Given the description of an element on the screen output the (x, y) to click on. 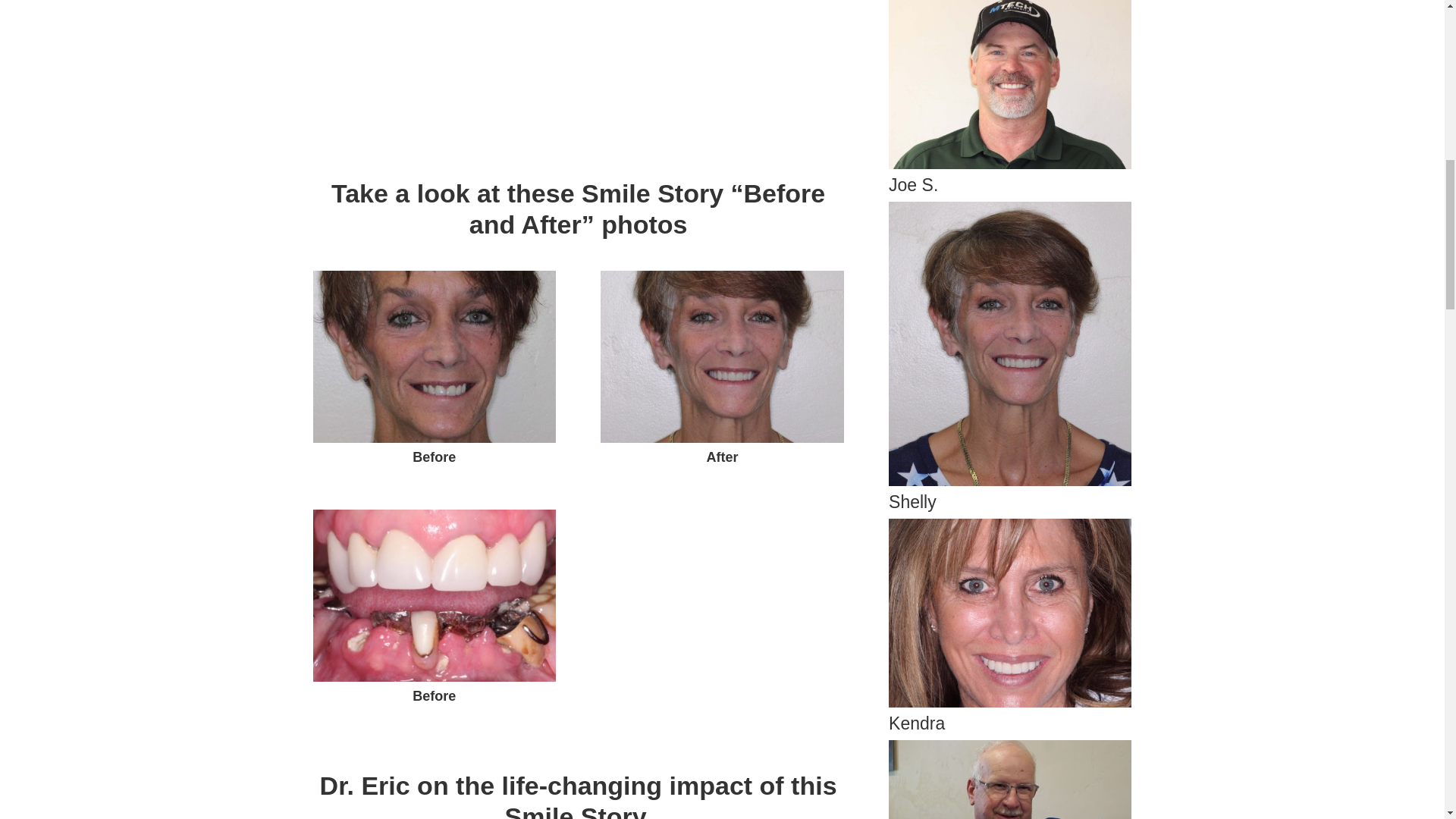
Before (433, 681)
Shelly 4 (1009, 84)
Shelly 1 (433, 357)
After (721, 442)
Shelly 2 (721, 357)
Shelly 3 (433, 595)
Before (433, 442)
Shelly 6 (1009, 612)
Shelly one week post op video (578, 76)
Shelly 7 (1009, 779)
